Given the description of an element on the screen output the (x, y) to click on. 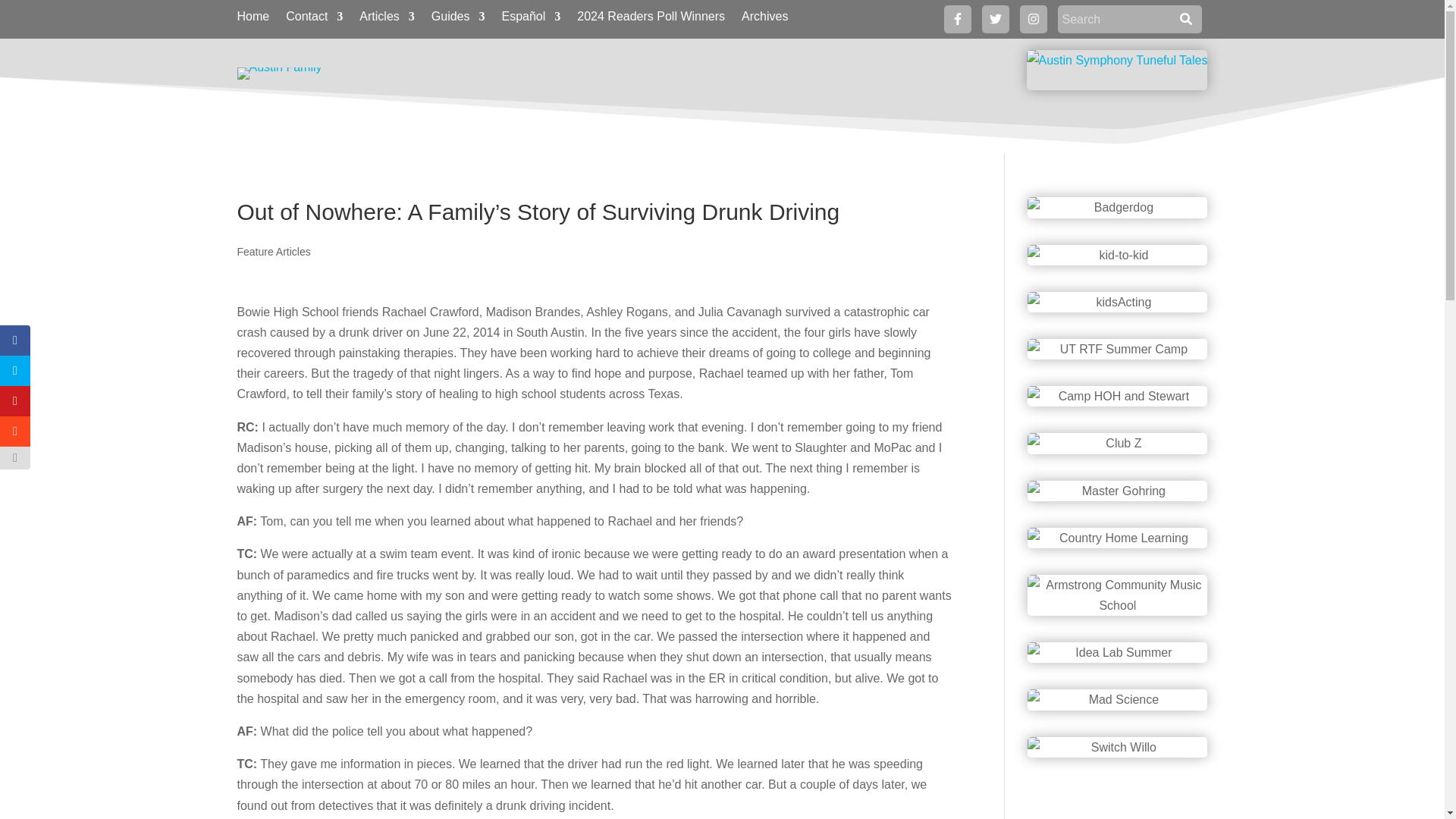
2024 Readers Poll Winners (650, 19)
Archives (764, 19)
Home (252, 19)
Articles (386, 19)
Guides (457, 19)
Contact (313, 19)
